Given the description of an element on the screen output the (x, y) to click on. 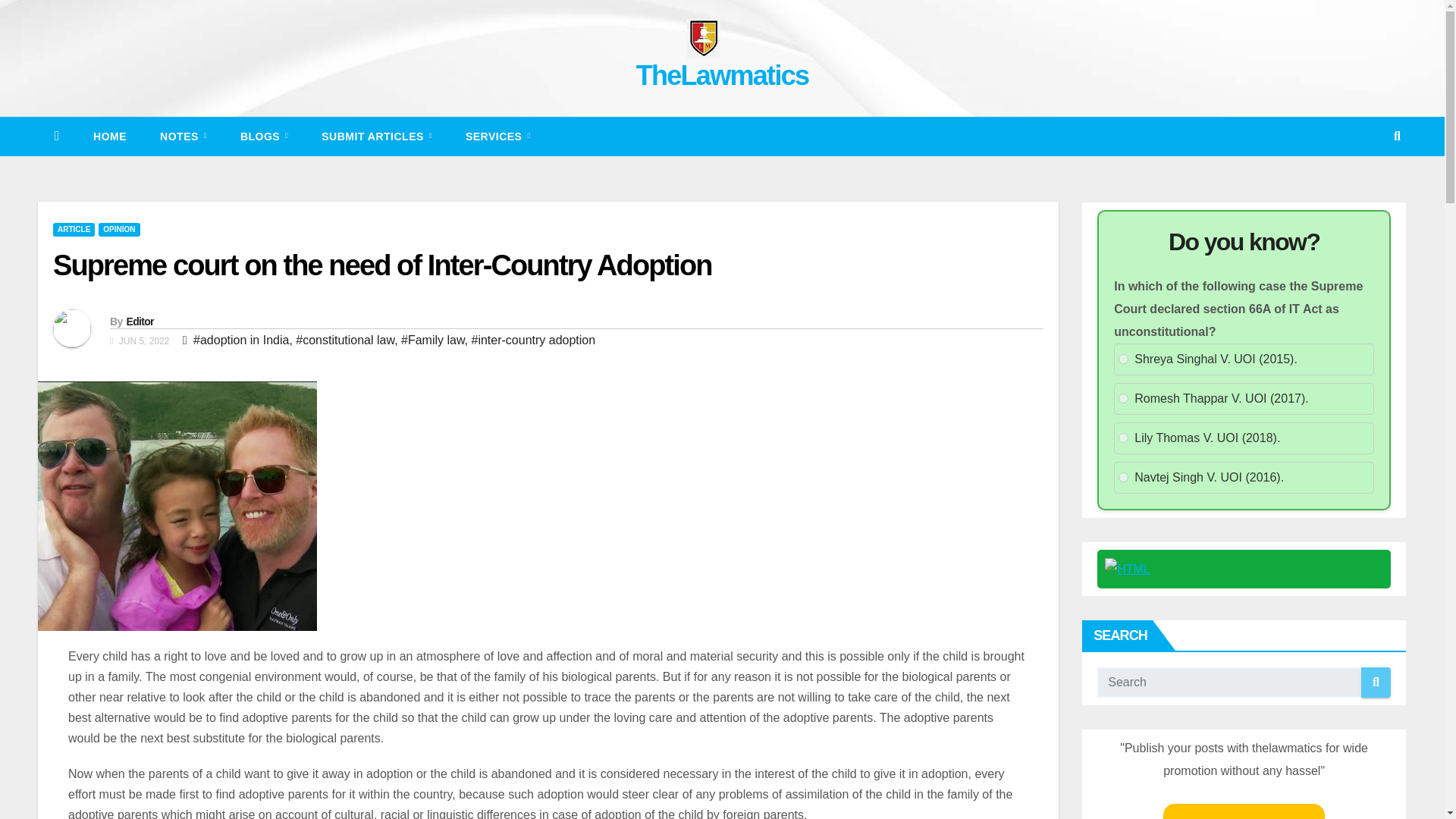
HOME (109, 136)
Home (109, 136)
2 (1123, 398)
SUBMIT ARTICLES (376, 136)
TheLawmatics (722, 74)
BLOGS (264, 136)
1 (1123, 358)
4 (1123, 477)
ARTICLE (73, 229)
Submit Articles (376, 136)
